Given the description of an element on the screen output the (x, y) to click on. 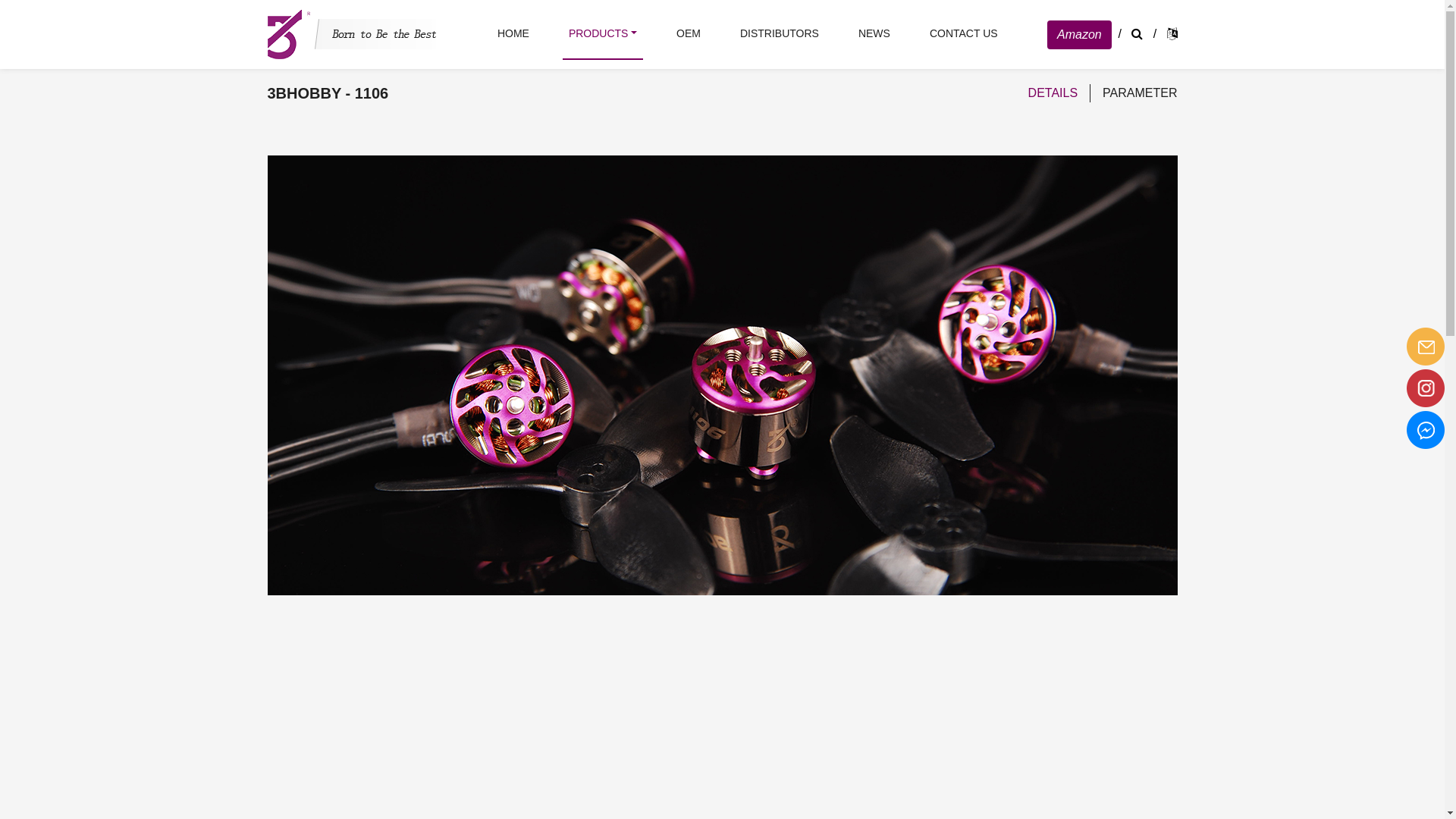
HOME Element type: text (513, 33)
DETAILS Element type: text (1053, 92)
OEM Element type: text (688, 33)
DISTRIBUTORS Element type: text (779, 33)
NEWS Element type: text (874, 33)
CONTACT US Element type: text (963, 33)
PARAMETER Element type: text (1139, 92)
PRODUCTS Element type: text (602, 33)
Amazon Element type: text (1079, 33)
